Given the description of an element on the screen output the (x, y) to click on. 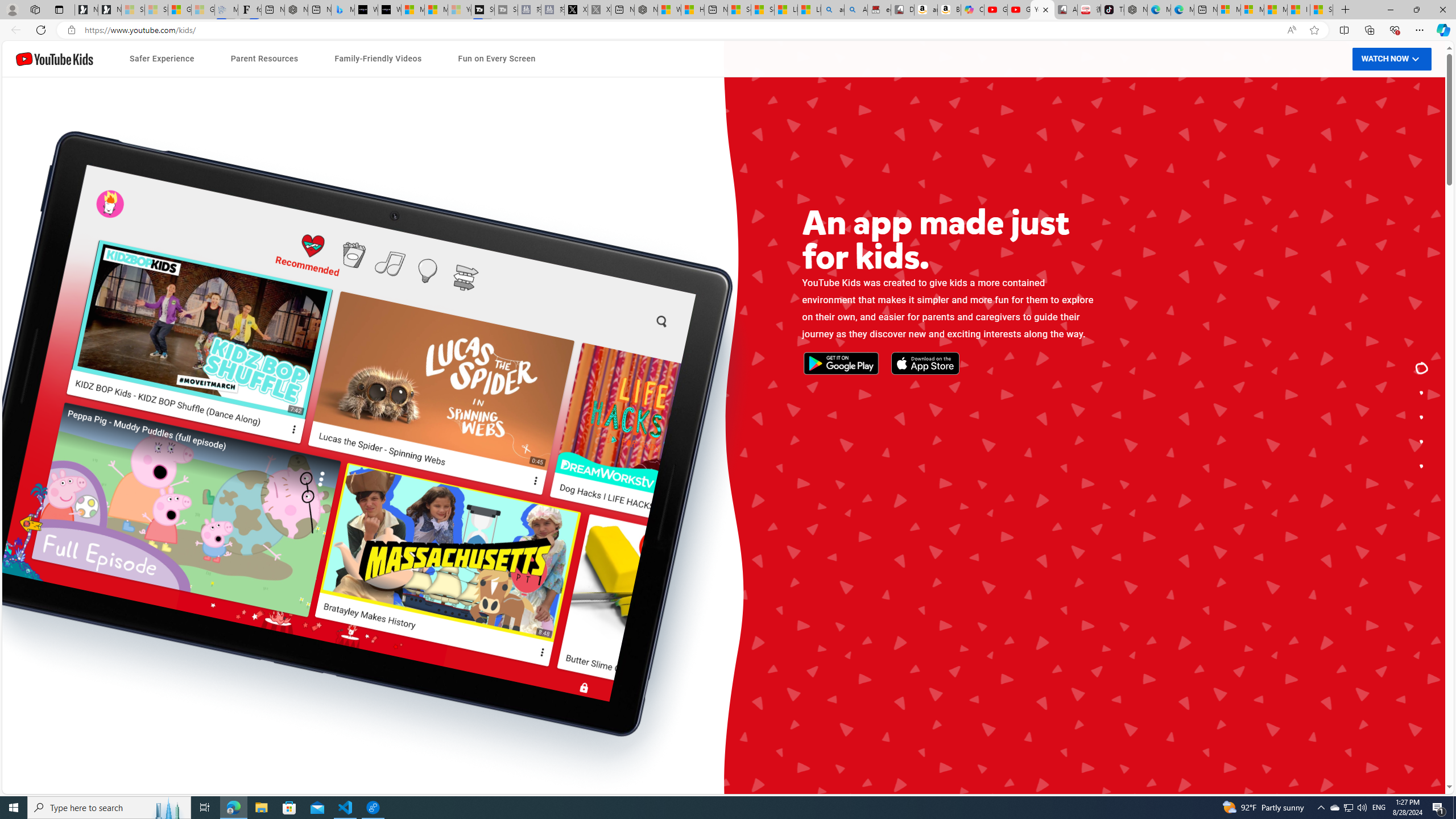
Fun on Every Screen (496, 58)
Safer Experience (162, 58)
Download on the App Store (470, 432)
Streaming Coverage | T3 (482, 9)
amazon - Search (832, 9)
Microsoft Bing Travel - Shangri-La Hotel Bangkok (342, 9)
X (575, 9)
04 Shows & Cartoons (950, 559)
Amazon Echo Dot PNG - Search Images (856, 9)
03Learning & Hobbies (950, 535)
